Given the description of an element on the screen output the (x, y) to click on. 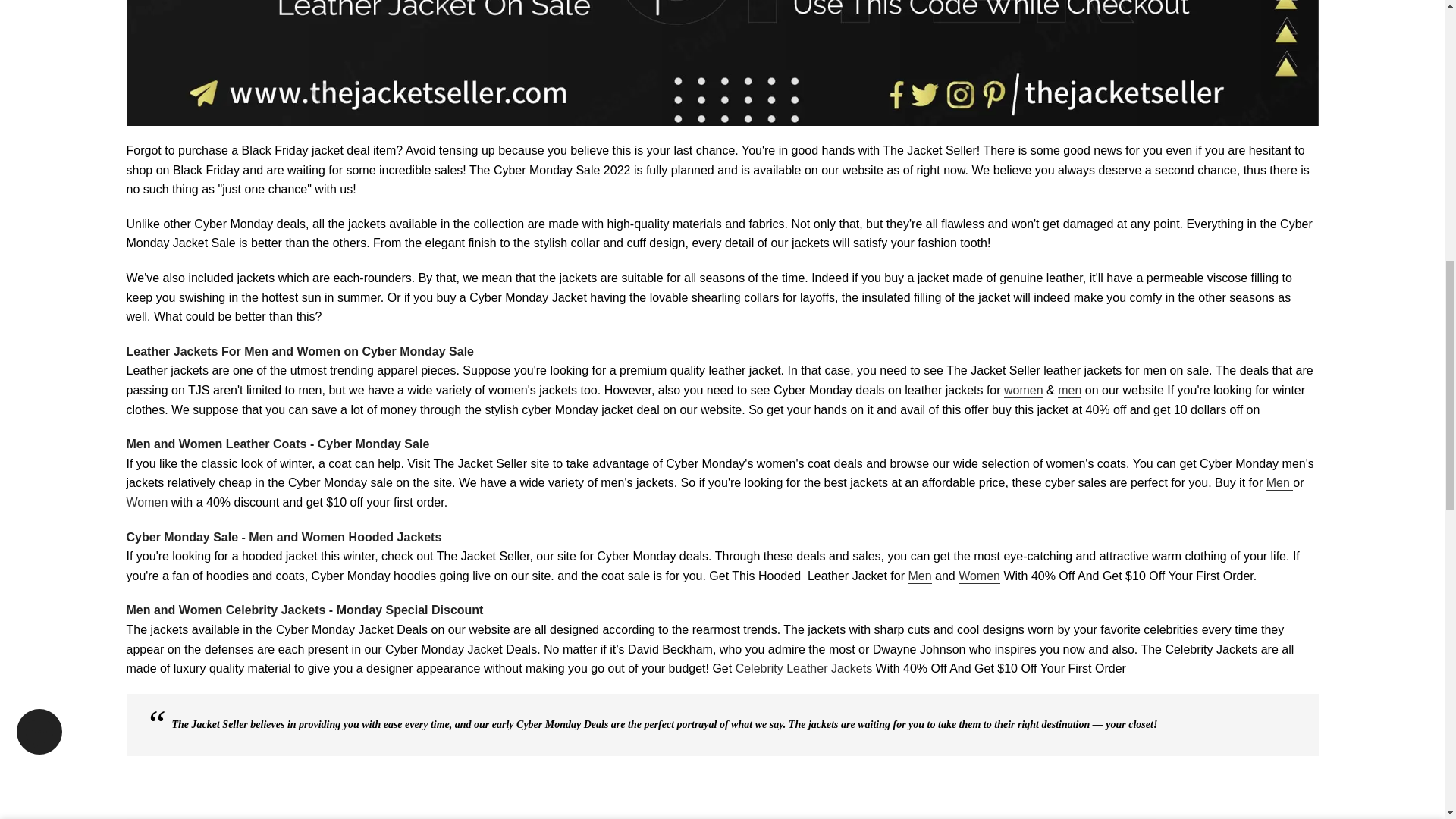
Men Hooded Leather Jackets on Cyber Monday (919, 576)
Women Hooded Leather Jackets - Cyber Monday Sale (979, 576)
Men Leather Coats on Sale (1280, 482)
Celebrity Leather Jackets on Cyber Monday Sale (803, 668)
Women Trench Coats For Sale (147, 503)
Women Leather Jackets on Biggest Cyber Monday Sale (1023, 391)
Men Leather Jackets on Biggest Cyber Monday Sale (1069, 391)
